Given the description of an element on the screen output the (x, y) to click on. 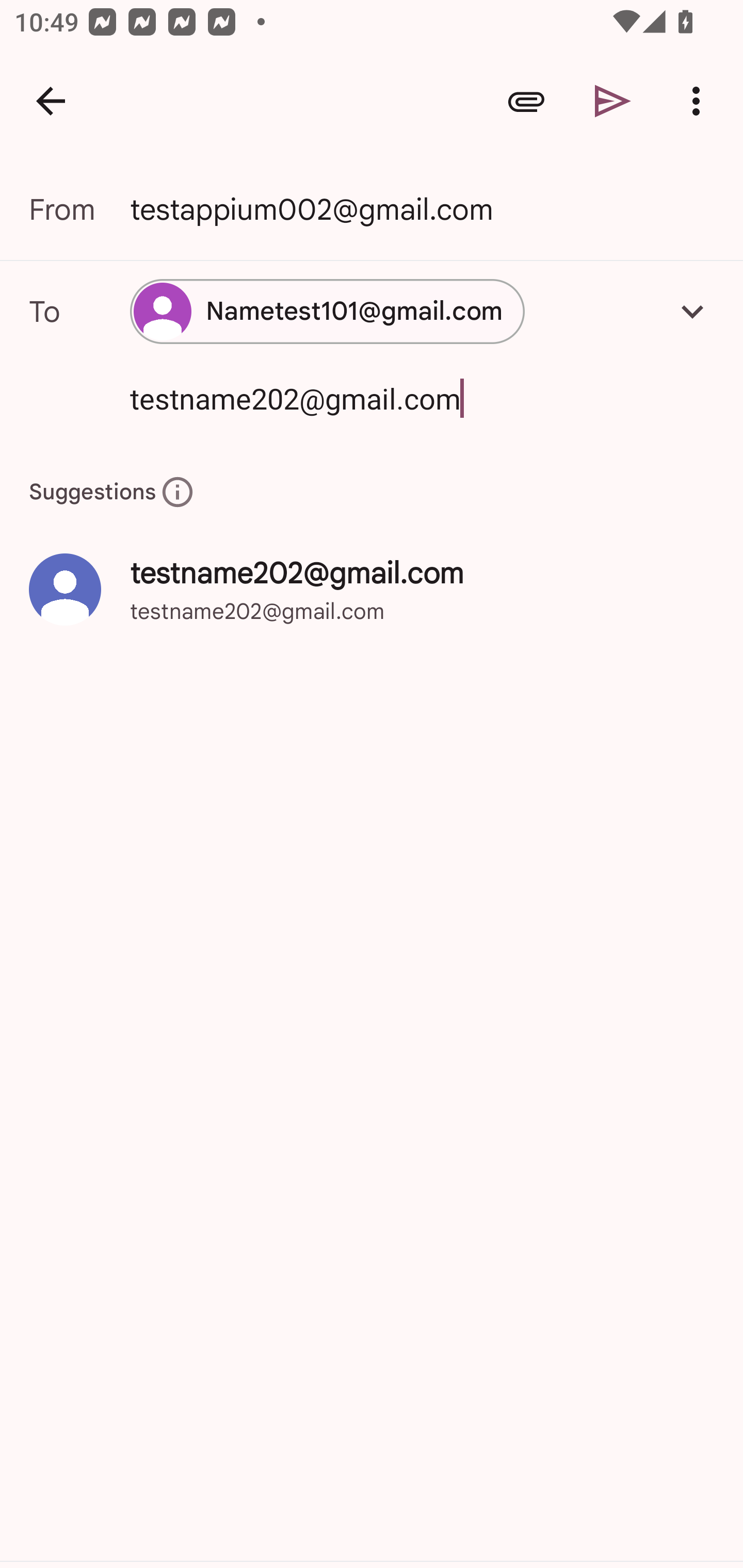
Navigate up (50, 101)
Attach file (525, 101)
Send (612, 101)
More options (699, 101)
From (79, 209)
Add Cc/Bcc (692, 311)
testname202@gmail.com (393, 398)
